Given the description of an element on the screen output the (x, y) to click on. 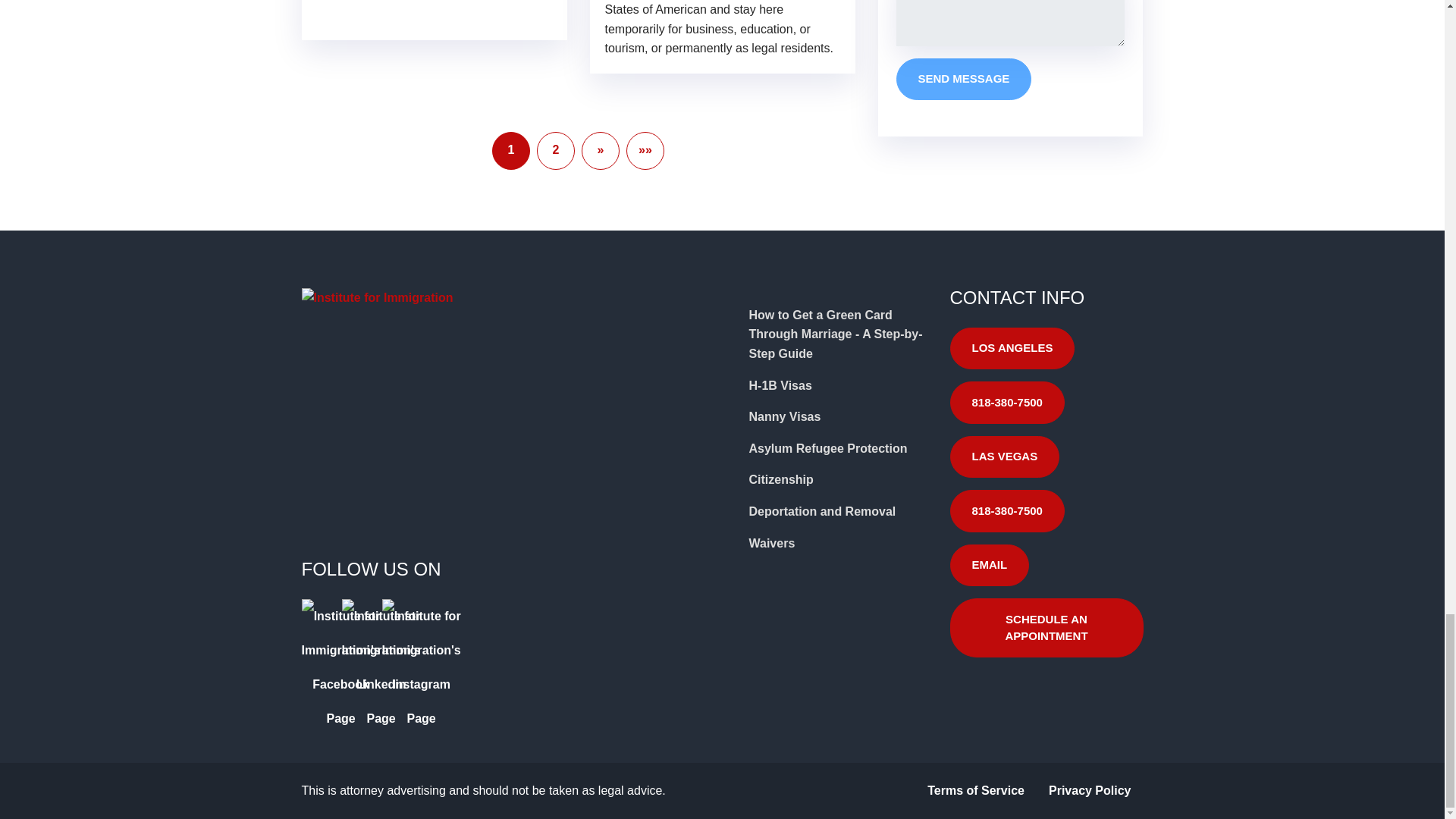
2 (556, 150)
1 (510, 150)
Encino Office - Institute For Immigration (453, 438)
